Given the description of an element on the screen output the (x, y) to click on. 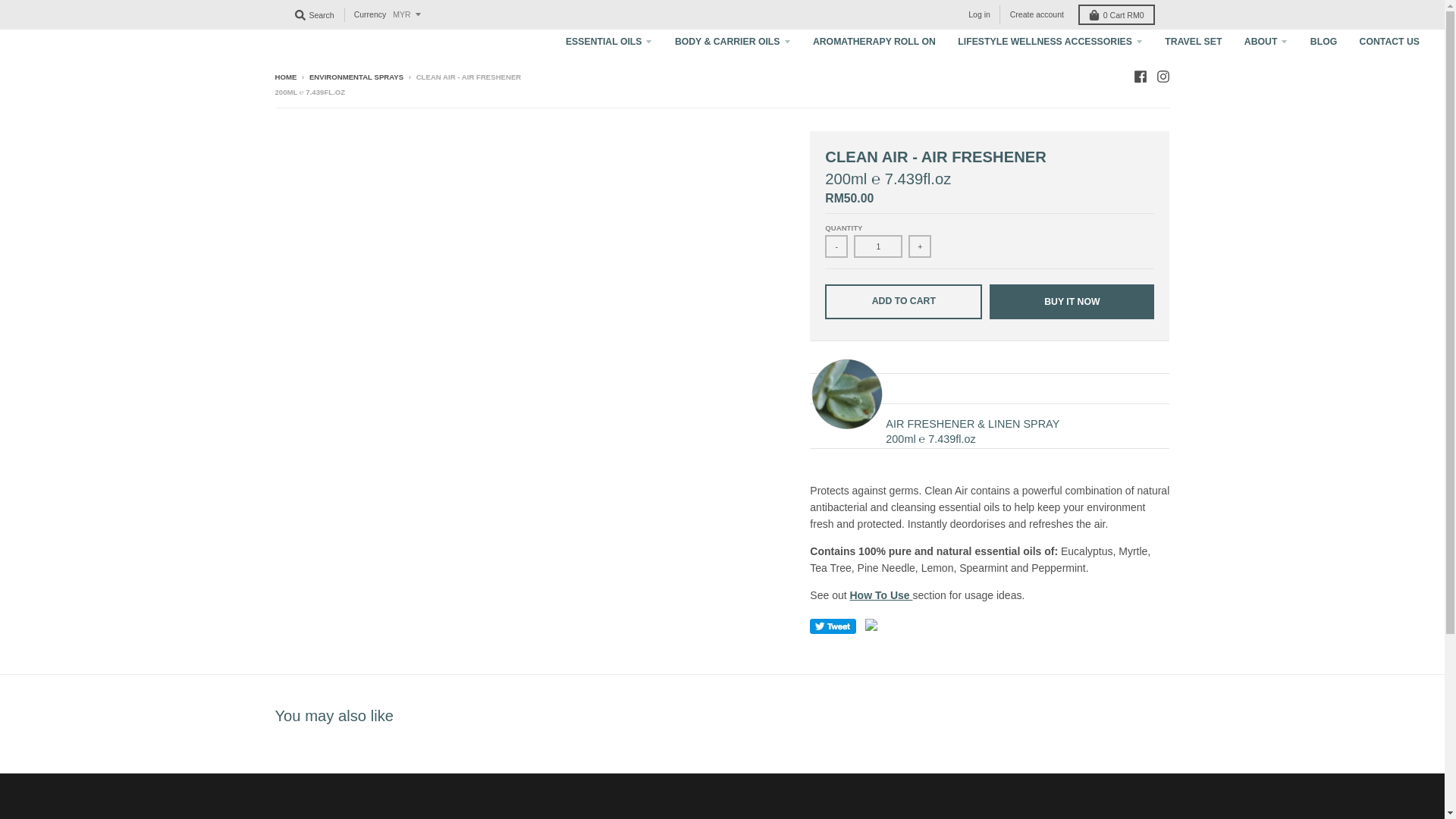
ABOUT (1266, 42)
1 (877, 246)
Facebook - Natural Elements MY (1139, 76)
0 Cart RM0 (1116, 14)
AROMATHERAPY ROLL ON (873, 42)
TRAVEL SET (1192, 42)
Create account (1037, 14)
BLOG (1323, 42)
Log in (978, 14)
LIFESTYLE WELLNESS ACCESSORIES (1050, 42)
Instagram - Natural Elements MY (1162, 76)
ESSENTIAL OILS (609, 42)
Search (313, 14)
Back to the frontpage (286, 76)
CONTACT US (1389, 42)
